Given the description of an element on the screen output the (x, y) to click on. 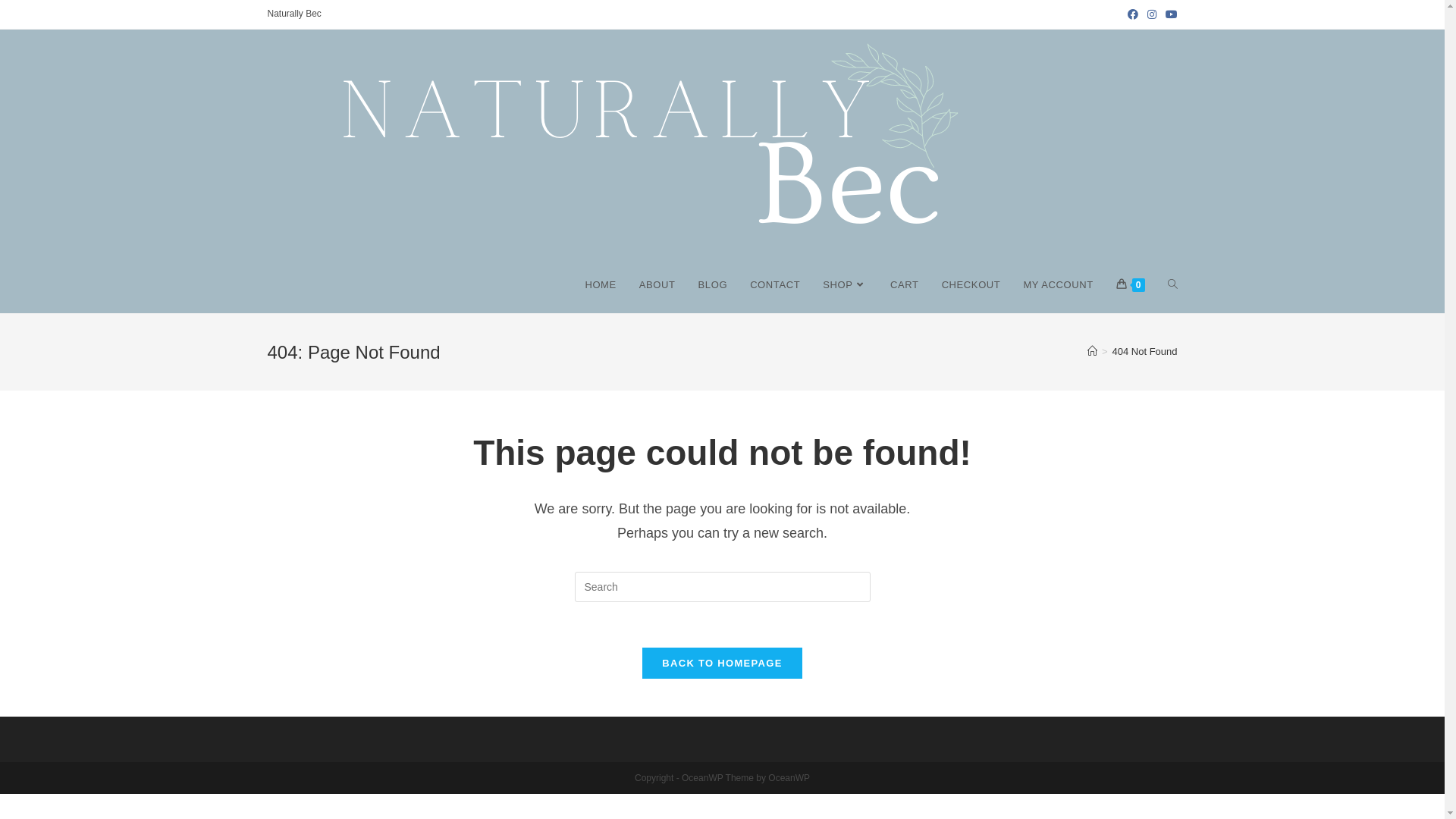
BLOG Element type: text (713, 285)
0 Element type: text (1130, 285)
ABOUT Element type: text (657, 285)
CART Element type: text (904, 285)
CONTACT Element type: text (774, 285)
CHECKOUT Element type: text (971, 285)
404 Not Found Element type: text (1143, 351)
BACK TO HOMEPAGE Element type: text (721, 662)
SHOP Element type: text (844, 285)
HOME Element type: text (600, 285)
MY ACCOUNT Element type: text (1057, 285)
